Given the description of an element on the screen output the (x, y) to click on. 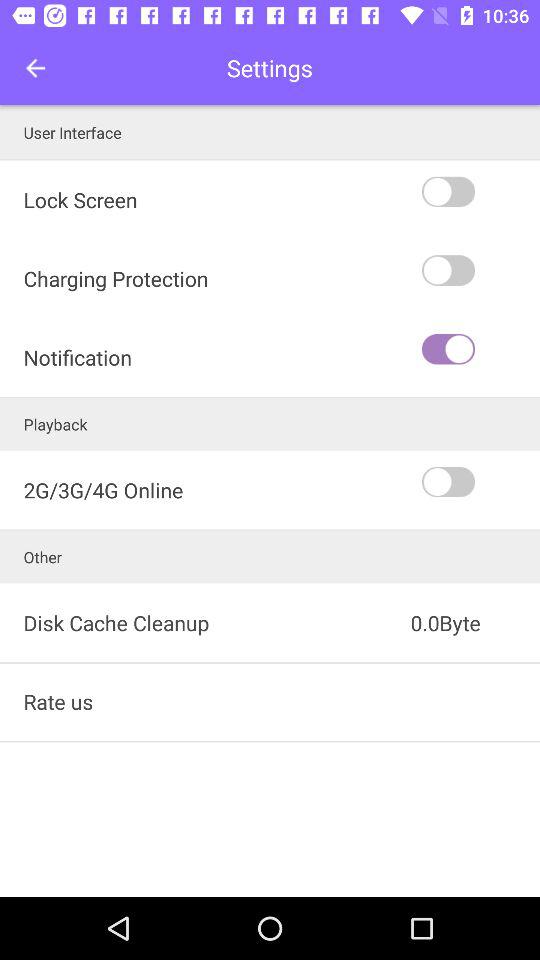
choose the icon next to the 2g 3g 4g icon (479, 481)
